Given the description of an element on the screen output the (x, y) to click on. 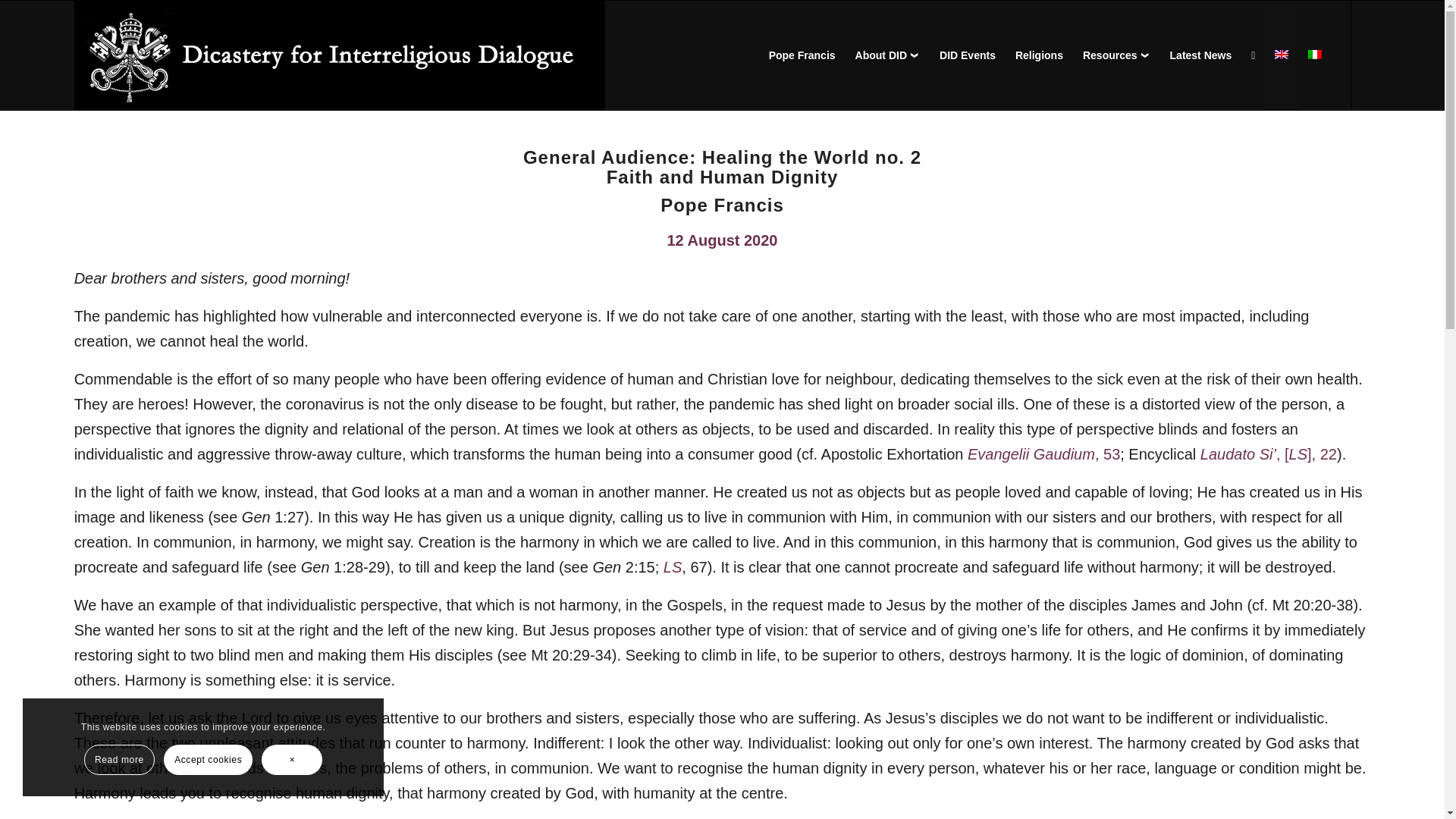
logo for website May 2022 WHITE (339, 54)
Evangelii Gaudium, 53 (1043, 453)
LS (672, 566)
Italiano (1314, 53)
logo for website May 2022 WHITE (339, 56)
English (1281, 53)
